Given the description of an element on the screen output the (x, y) to click on. 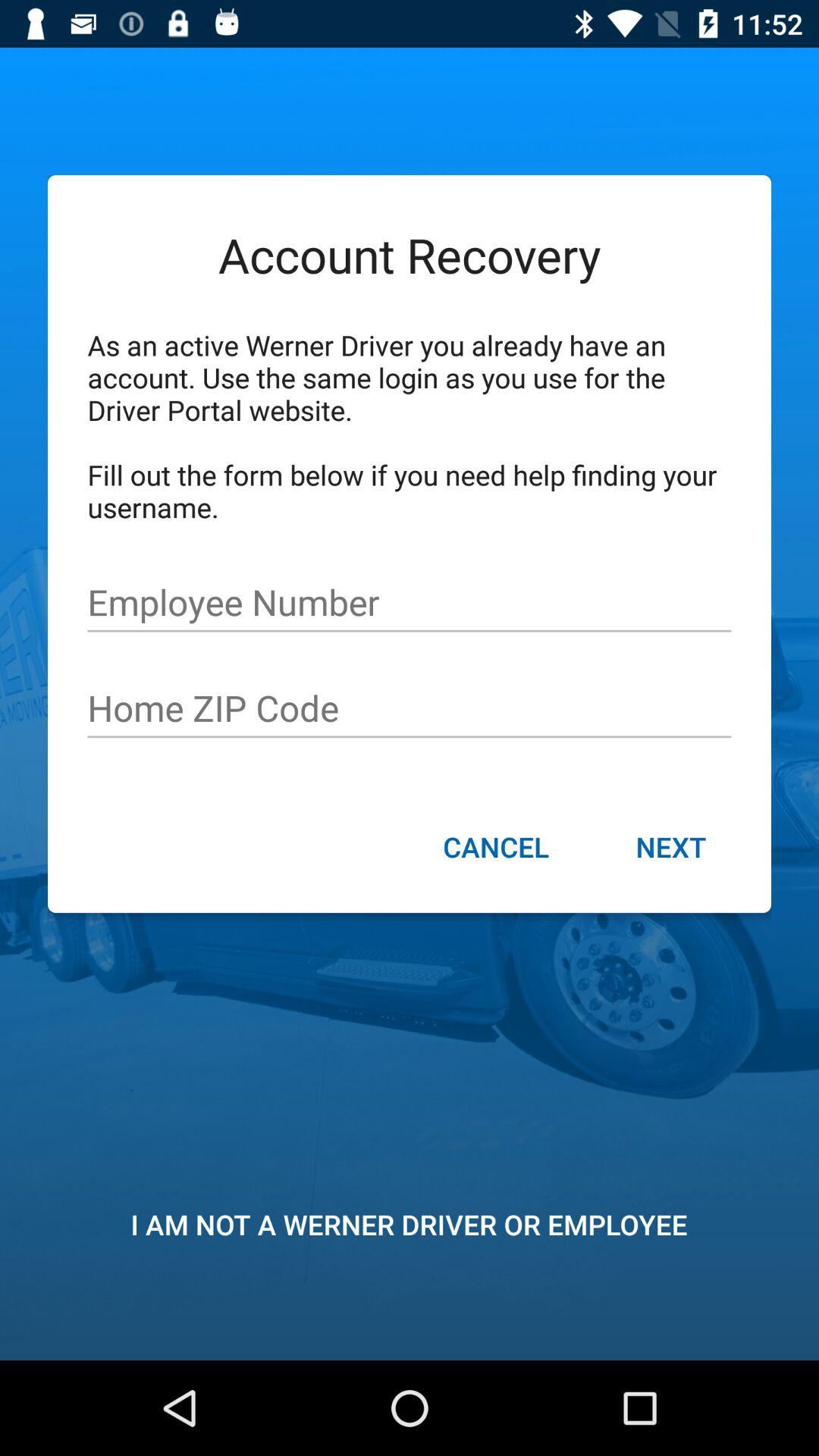
open cancel icon (495, 848)
